Given the description of an element on the screen output the (x, y) to click on. 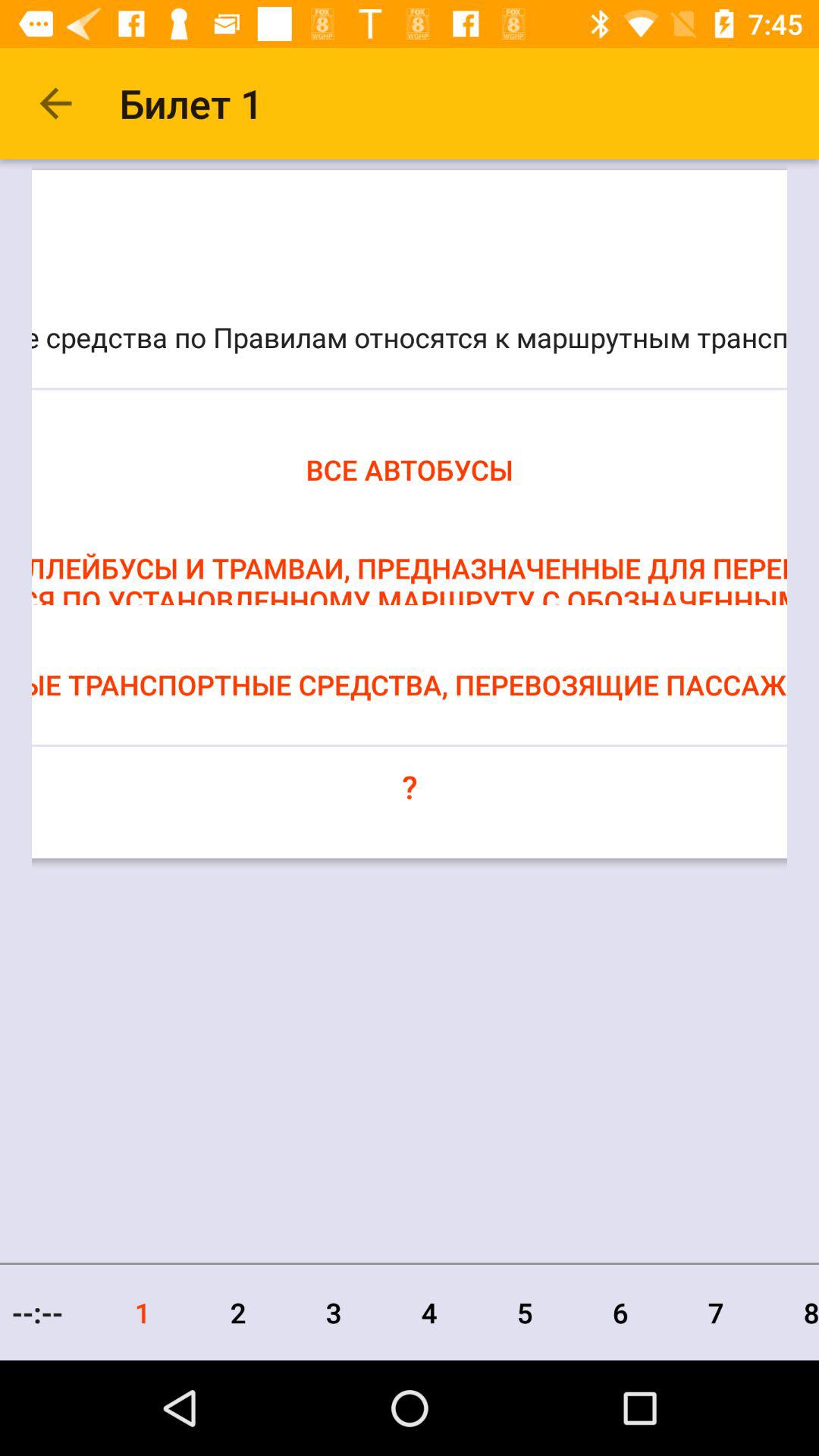
launch the icon to the right of 6 (715, 1312)
